Given the description of an element on the screen output the (x, y) to click on. 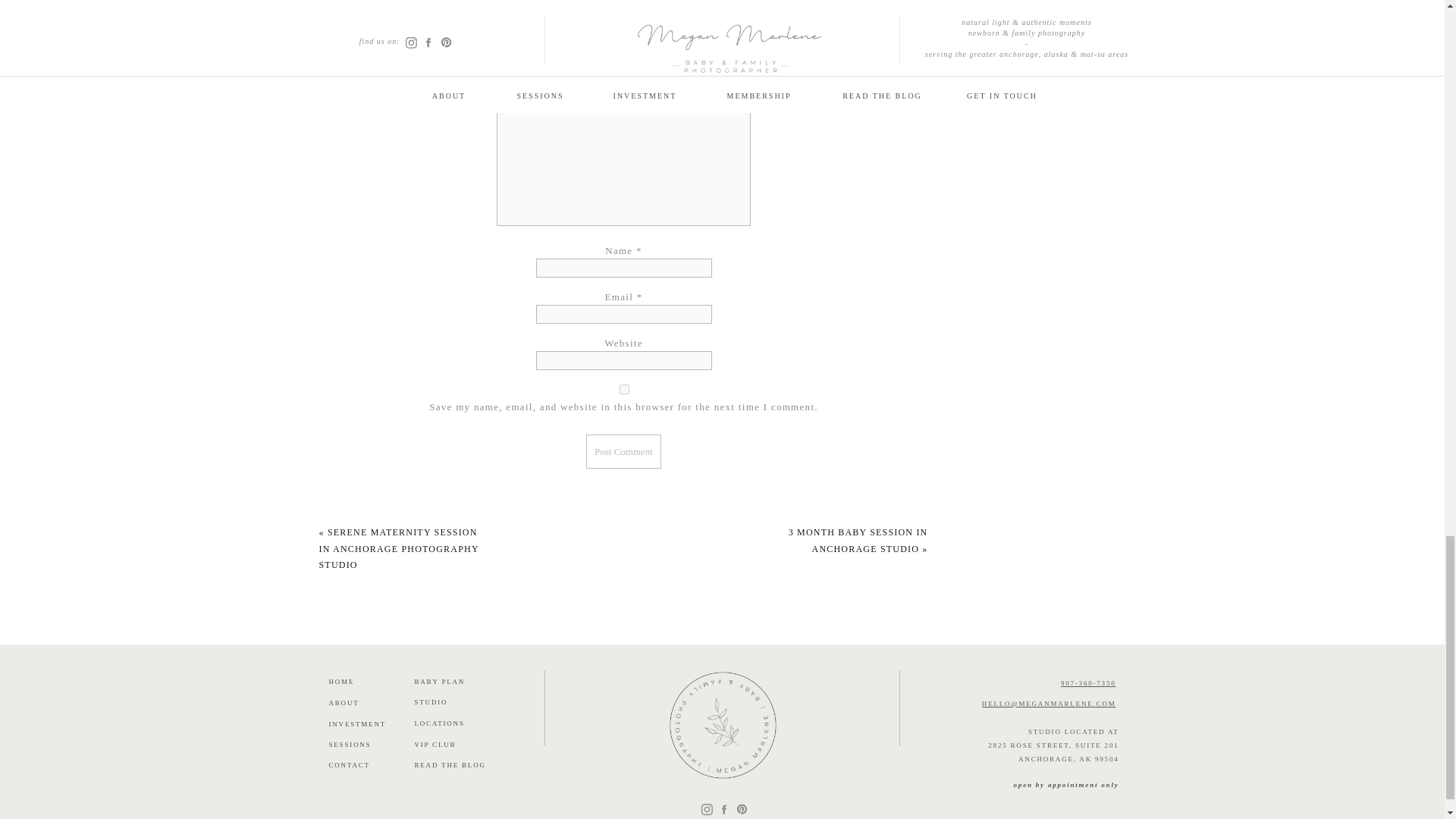
Post Comment (623, 451)
Instagram-color Created with Sketch. (706, 808)
yes (623, 388)
